Given the description of an element on the screen output the (x, y) to click on. 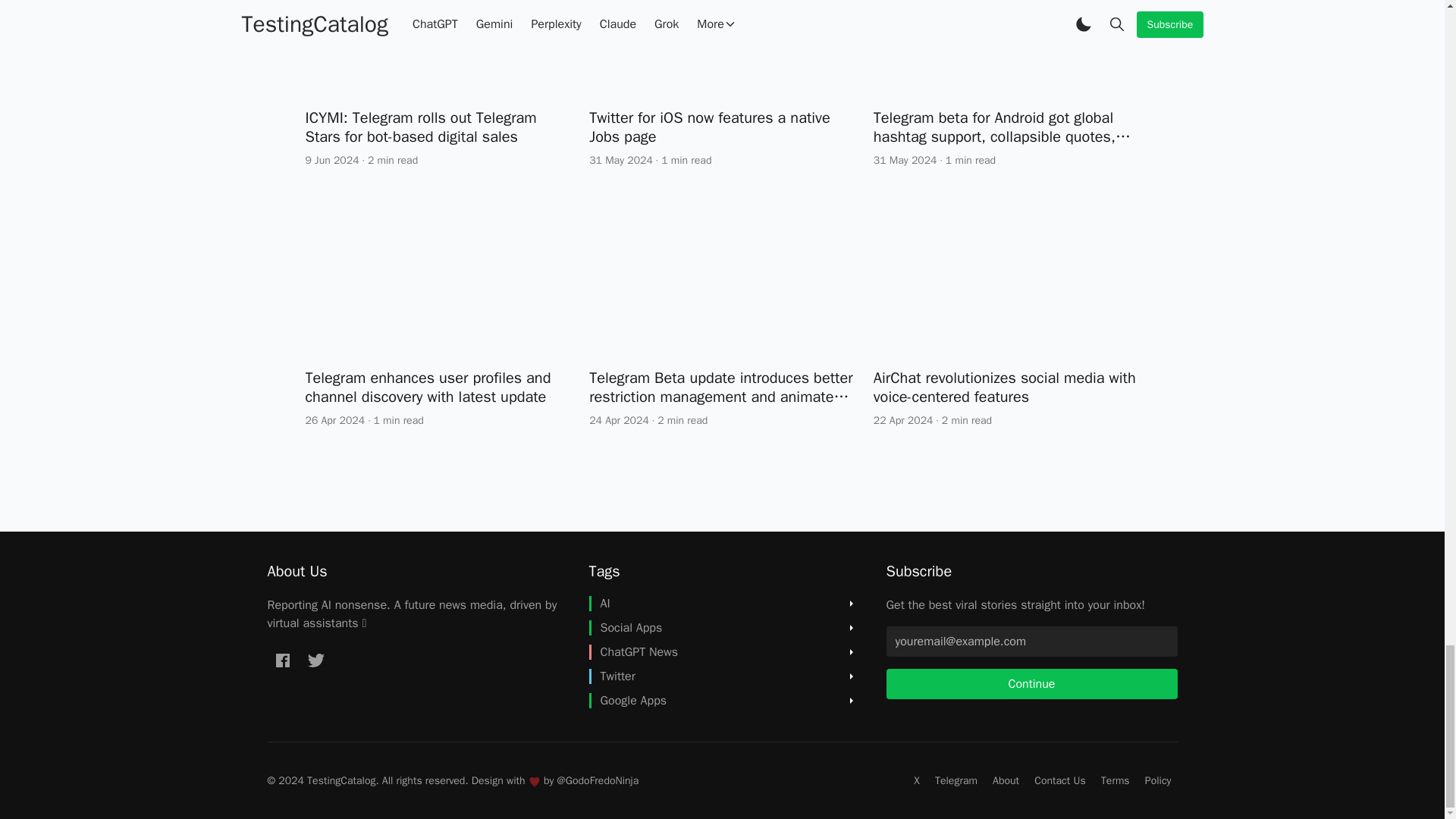
2 min read (392, 160)
Updated 31 May 2024 (620, 160)
1 min read (686, 160)
Updated 9 Jun 2024 (331, 160)
